Given the description of an element on the screen output the (x, y) to click on. 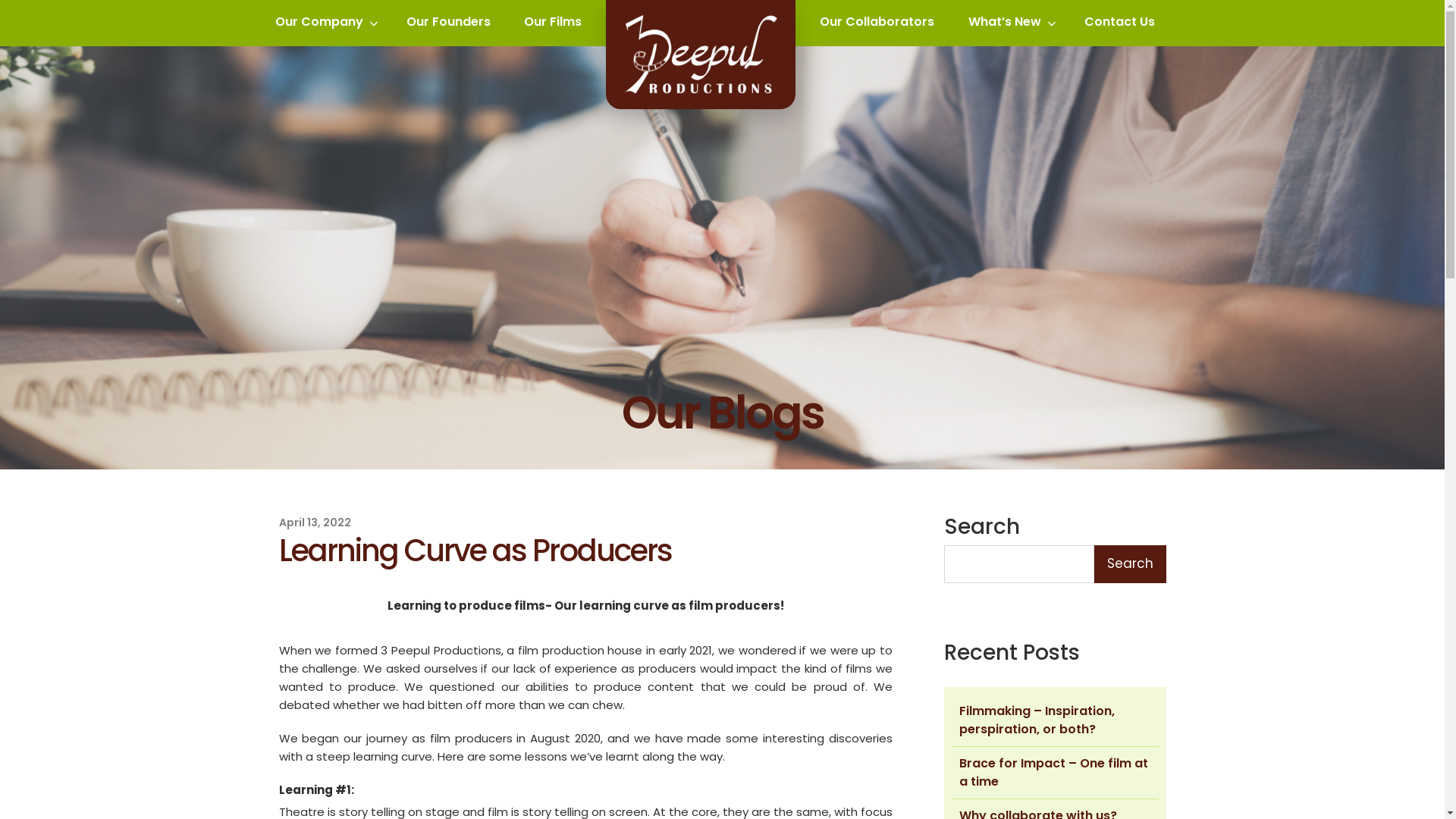
Our Collaborators Element type: text (877, 22)
Our Founders Element type: text (448, 22)
Our Films Element type: text (553, 22)
Search Element type: text (1129, 564)
Our Company Element type: text (323, 22)
Contact Us Element type: text (1119, 22)
April 13, 2022 Element type: text (315, 522)
